Given the description of an element on the screen output the (x, y) to click on. 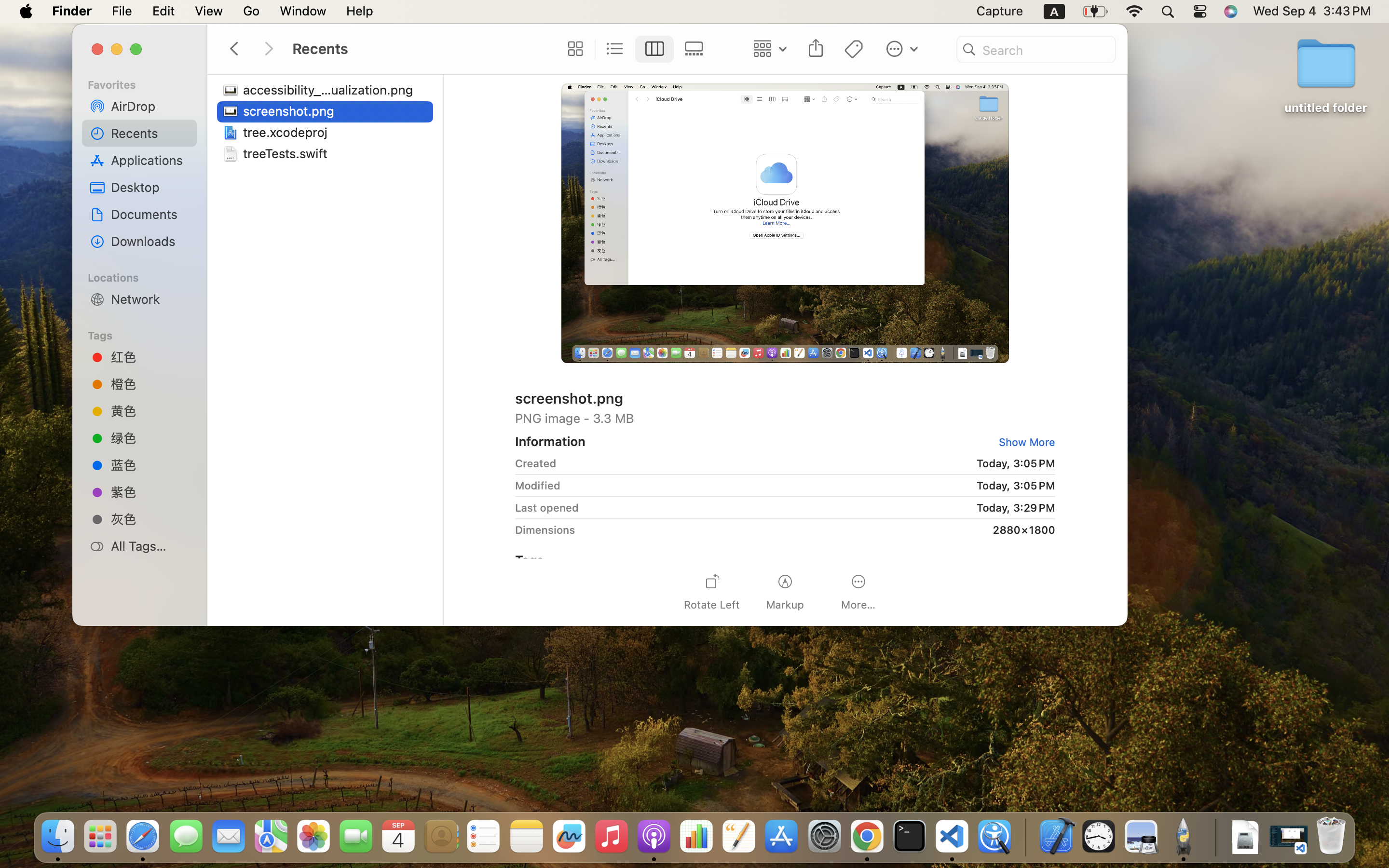
AirDrop Element type: AXStaticText (149, 105)
紫色 Element type: AXStaticText (149, 491)
